Given the description of an element on the screen output the (x, y) to click on. 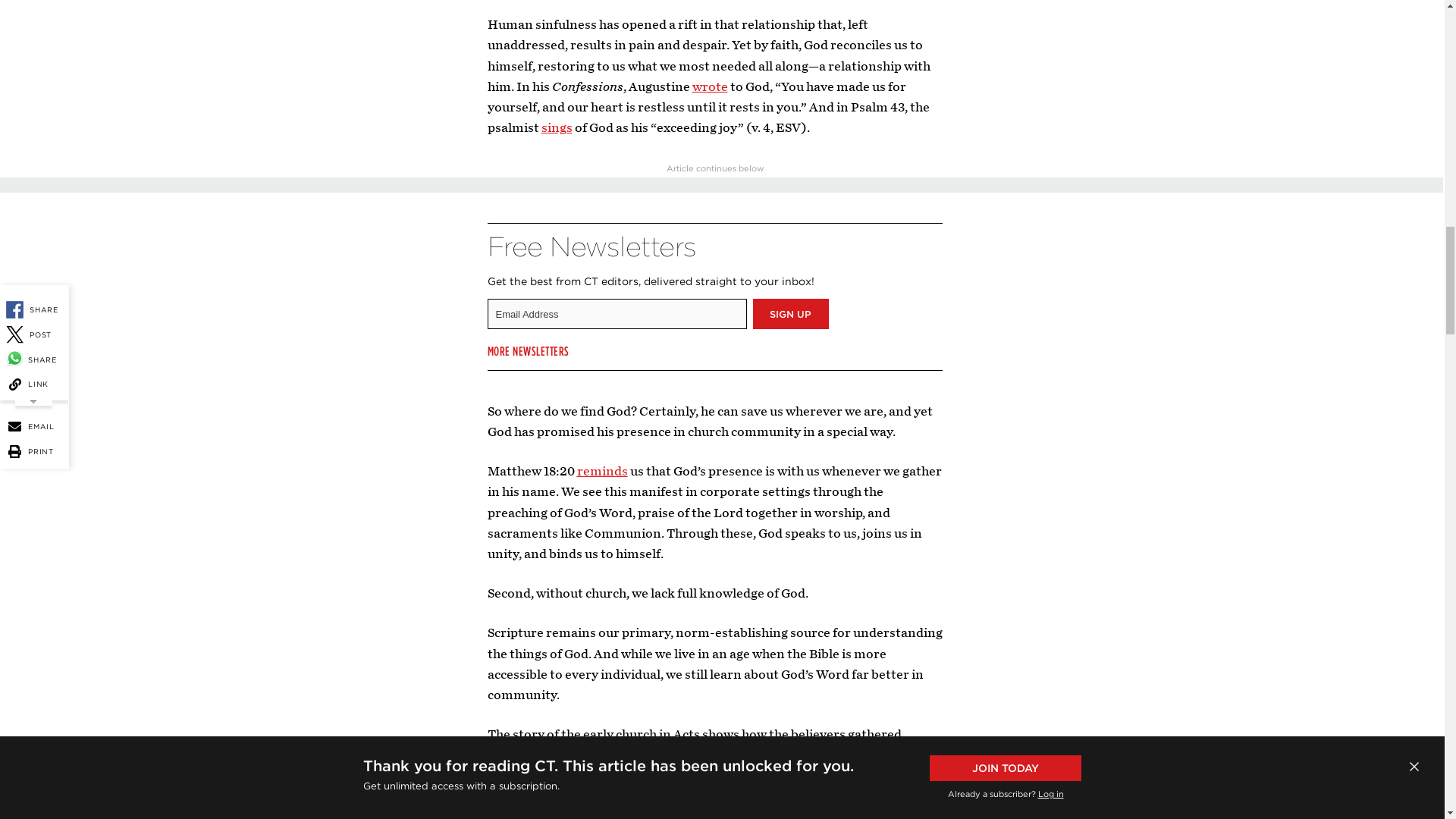
Sign Up (790, 313)
Email Address (615, 313)
